Given the description of an element on the screen output the (x, y) to click on. 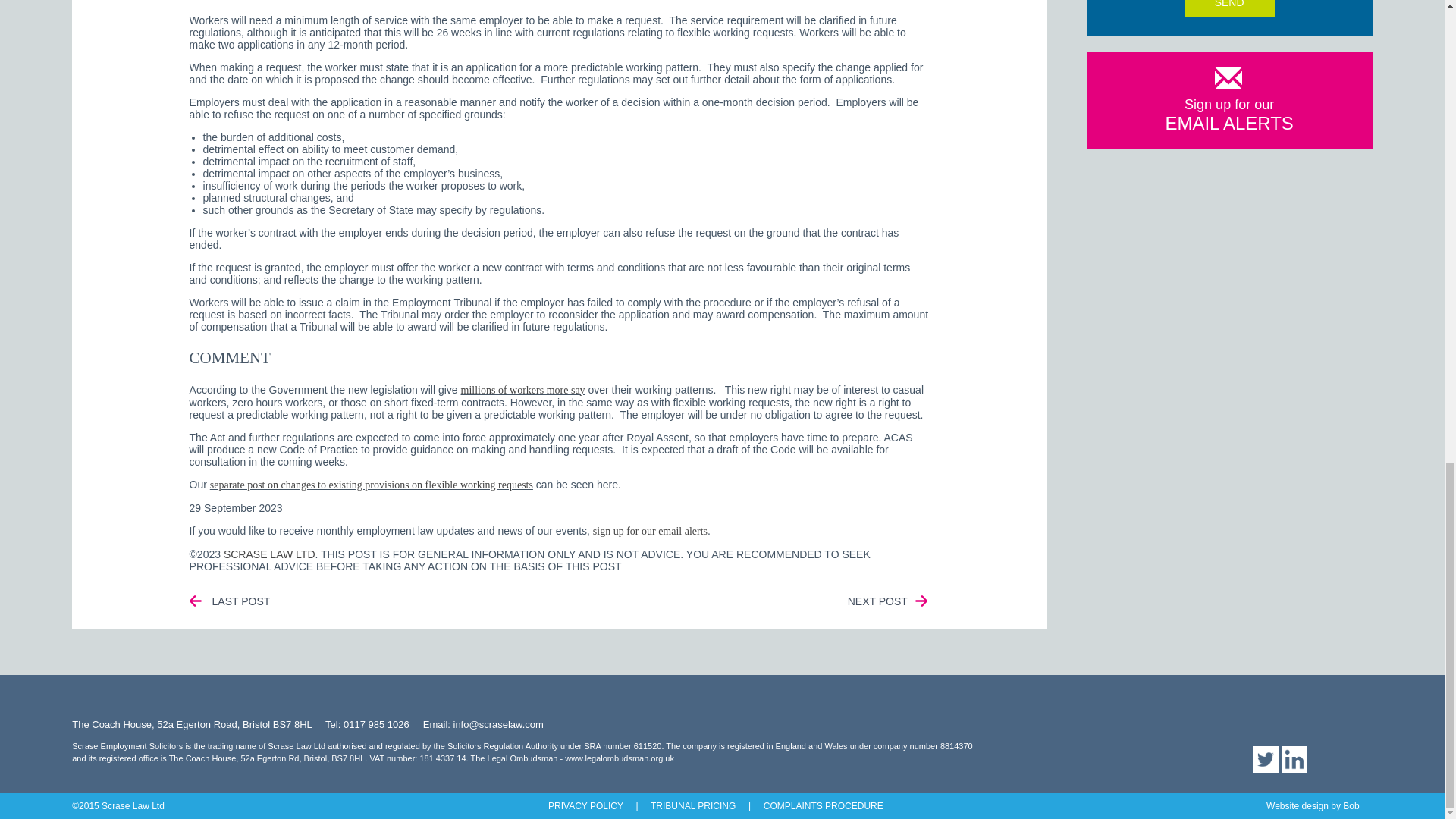
Send (1230, 8)
SCRASE LAW LTD (269, 553)
sign up for our email alerts (649, 530)
LAST POST (241, 601)
NEXT POST (877, 601)
millions of workers more say (523, 389)
